Given the description of an element on the screen output the (x, y) to click on. 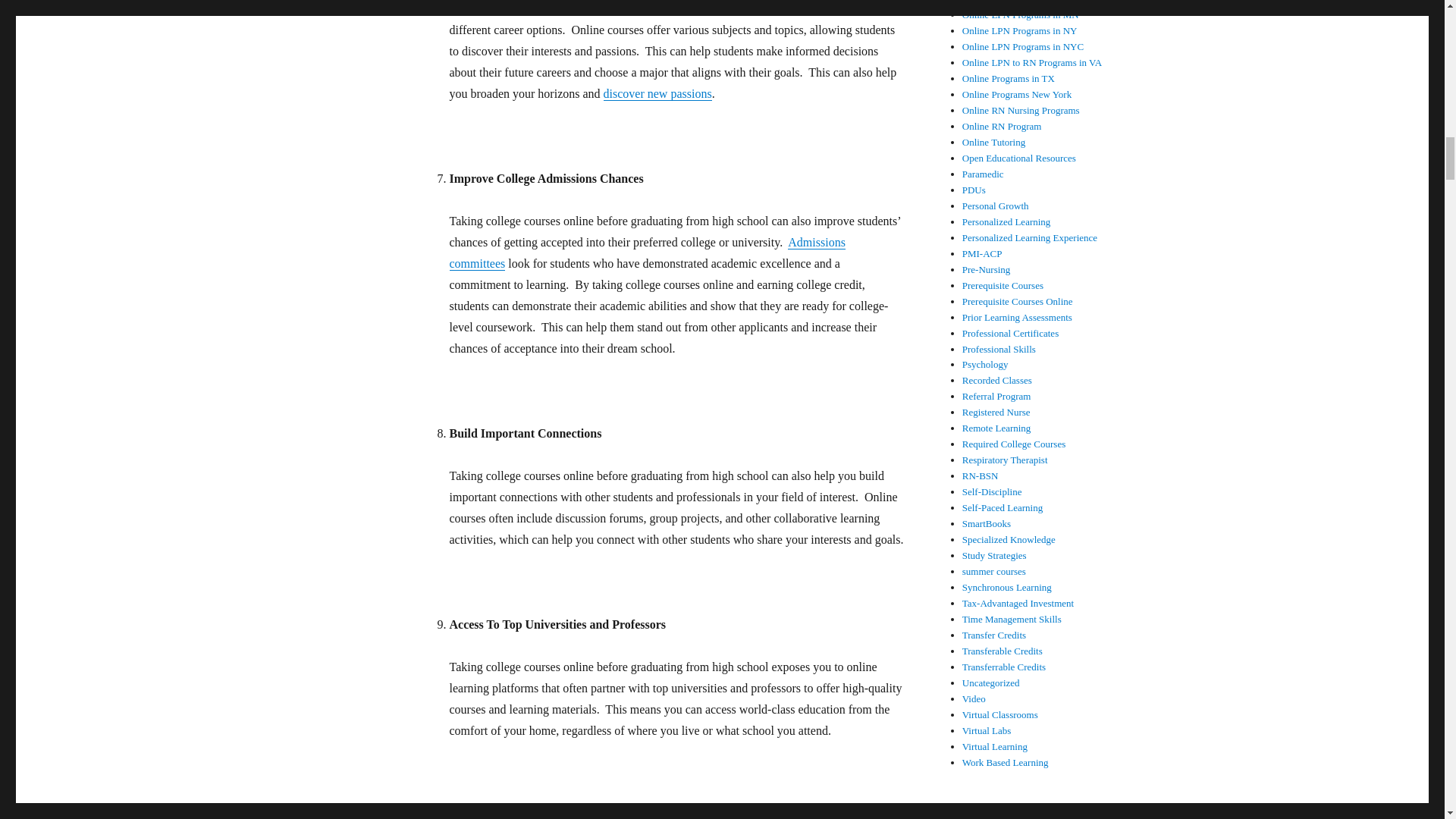
Admissions committees (646, 252)
discover new passions (657, 92)
